Given the description of an element on the screen output the (x, y) to click on. 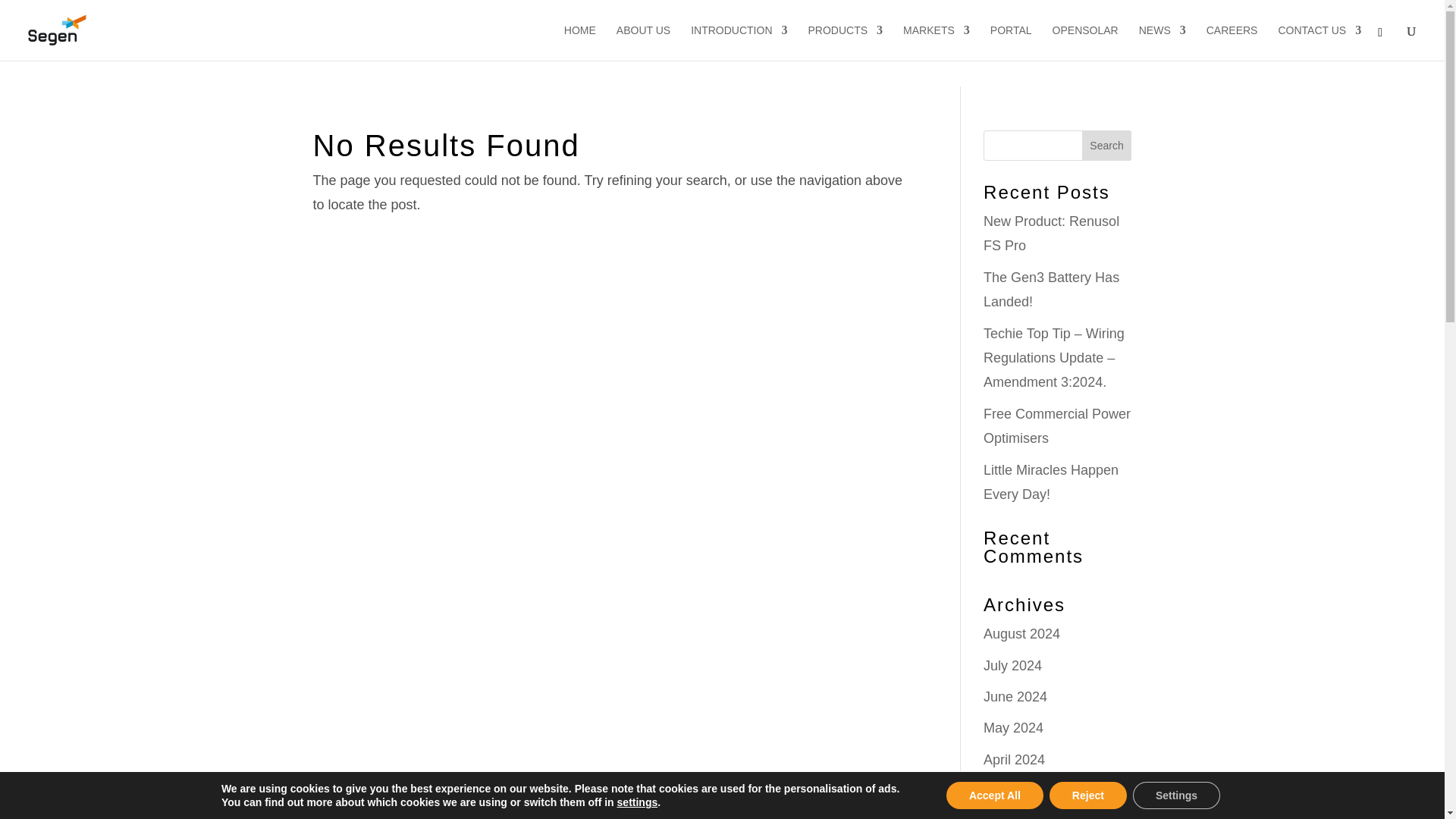
Search (1106, 145)
INTRODUCTION (738, 42)
PRODUCTS (845, 42)
HOME (579, 42)
ABOUT US (642, 42)
